Given the description of an element on the screen output the (x, y) to click on. 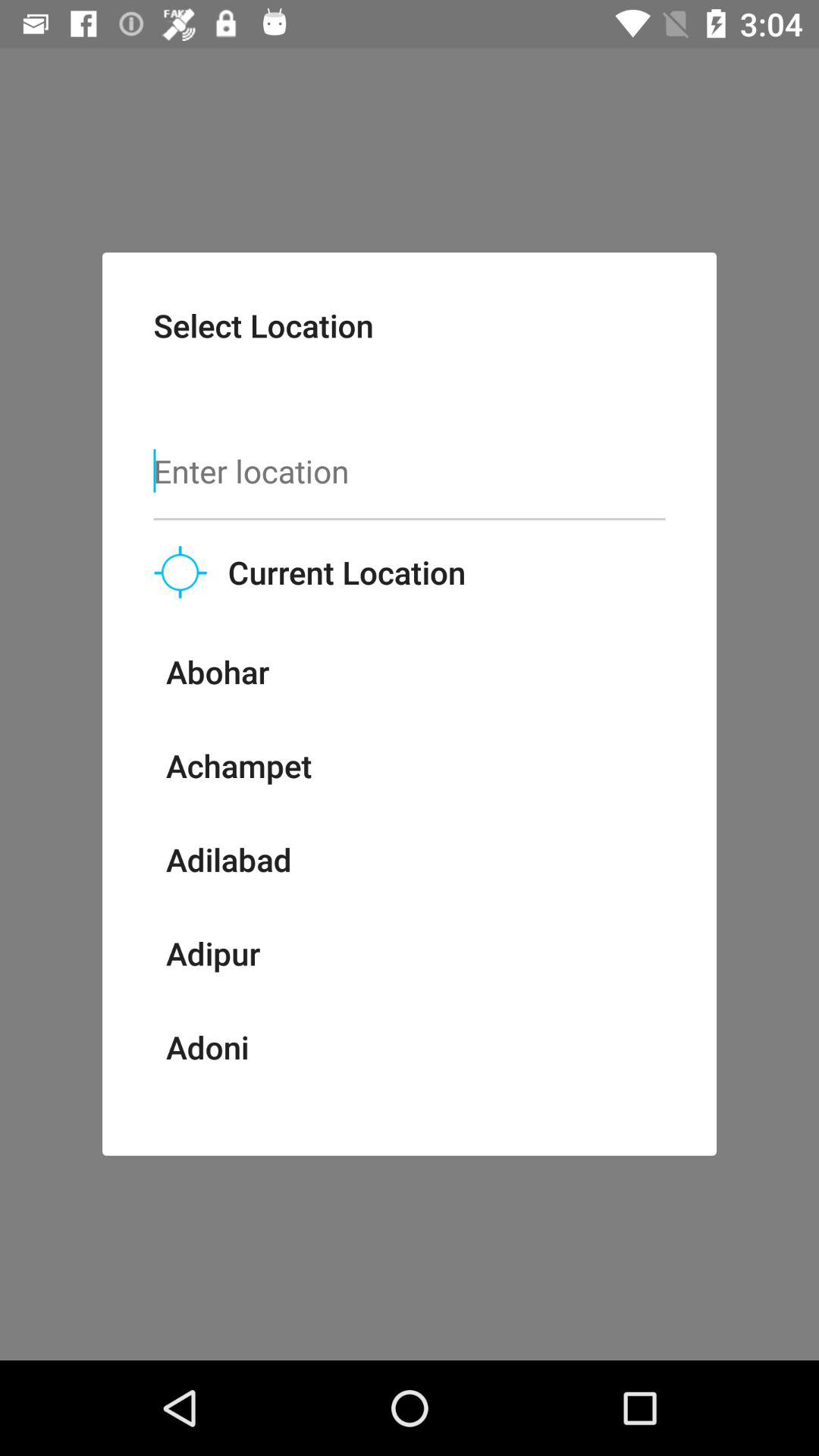
turn on the item above abohar item (180, 572)
